Given the description of an element on the screen output the (x, y) to click on. 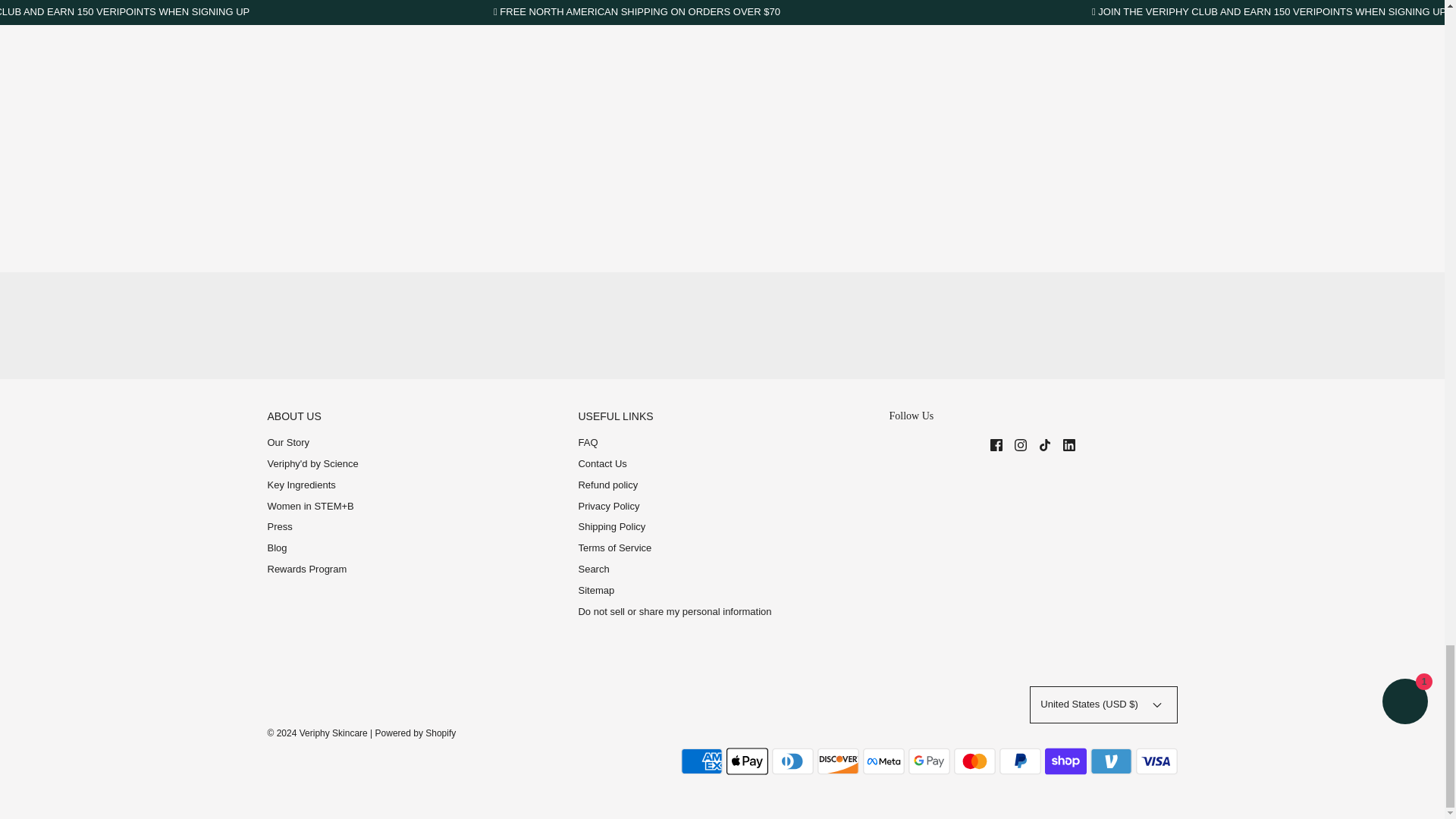
Google Pay (929, 761)
Meta Pay (883, 761)
Diners Club (792, 761)
TikTok icon (1045, 444)
Apple Pay (747, 761)
Facebook icon (996, 444)
American Express (701, 761)
Discover (837, 761)
Instagram icon (1020, 444)
Mastercard (974, 761)
LinkedIn icon (1068, 444)
